Given the description of an element on the screen output the (x, y) to click on. 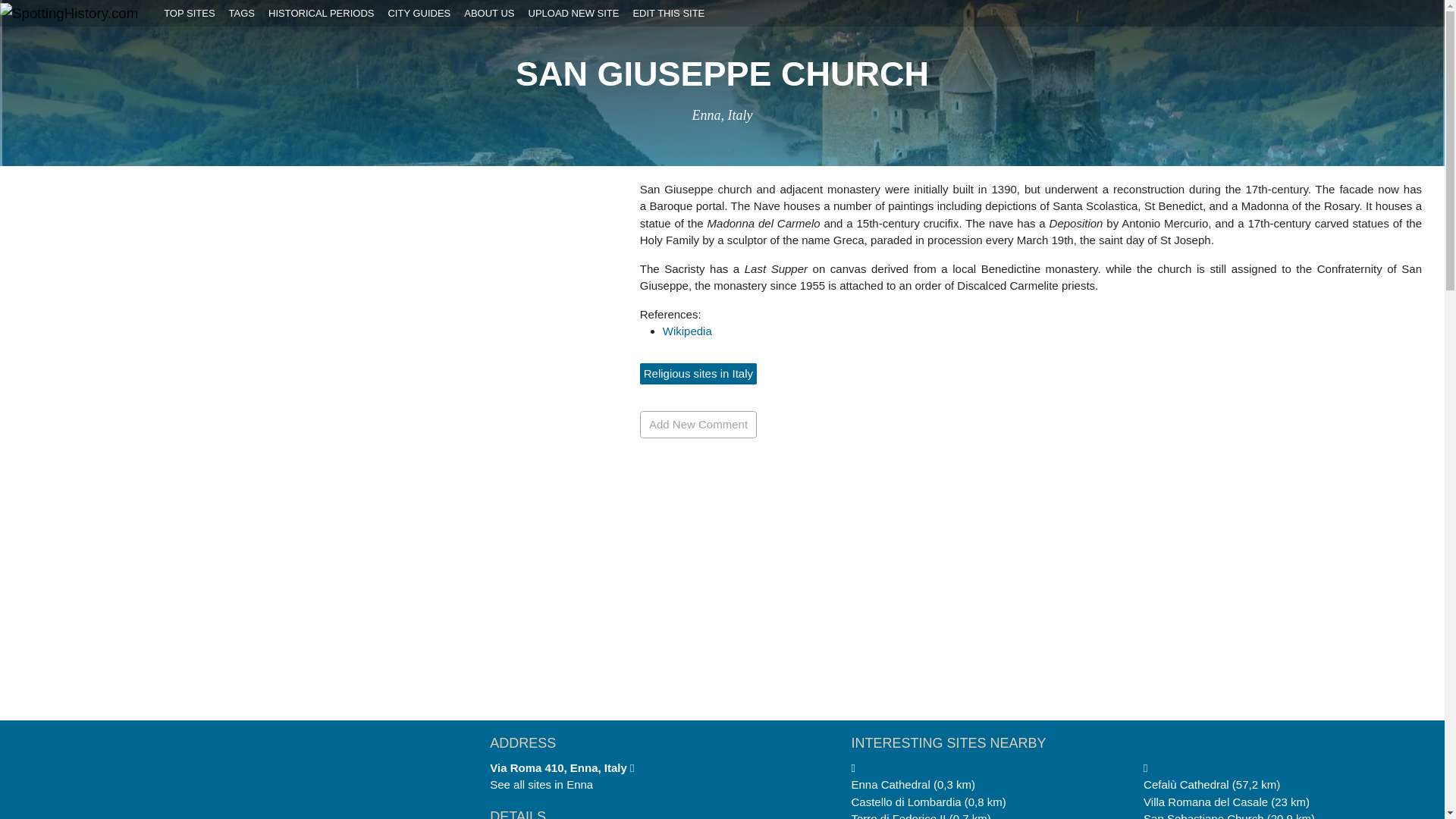
TOP SITES (189, 13)
Enna (579, 784)
Wikipedia (686, 330)
TAGS (241, 13)
Via Roma 410, Enna, Italy (561, 767)
Add New Comment (698, 424)
CITY GUIDES (419, 13)
Enna, Italy (721, 114)
Login to edit site information! (668, 13)
ABOUT US (488, 13)
